Given the description of an element on the screen output the (x, y) to click on. 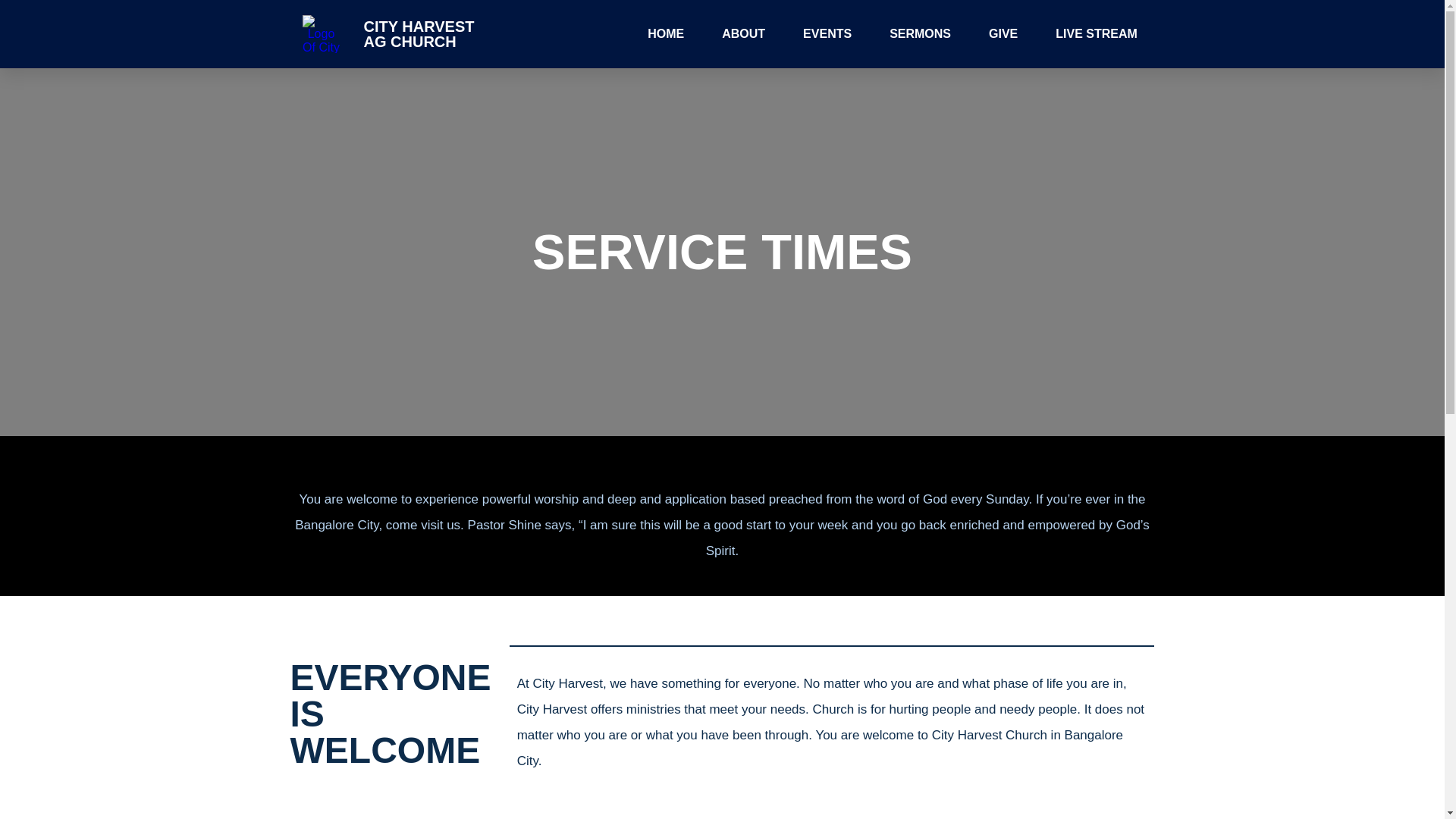
LIVE STREAM (1096, 33)
GIVE (1002, 33)
EVENTS (827, 33)
ABOUT (743, 33)
HOME (665, 33)
SERMONS (919, 33)
